Given the description of an element on the screen output the (x, y) to click on. 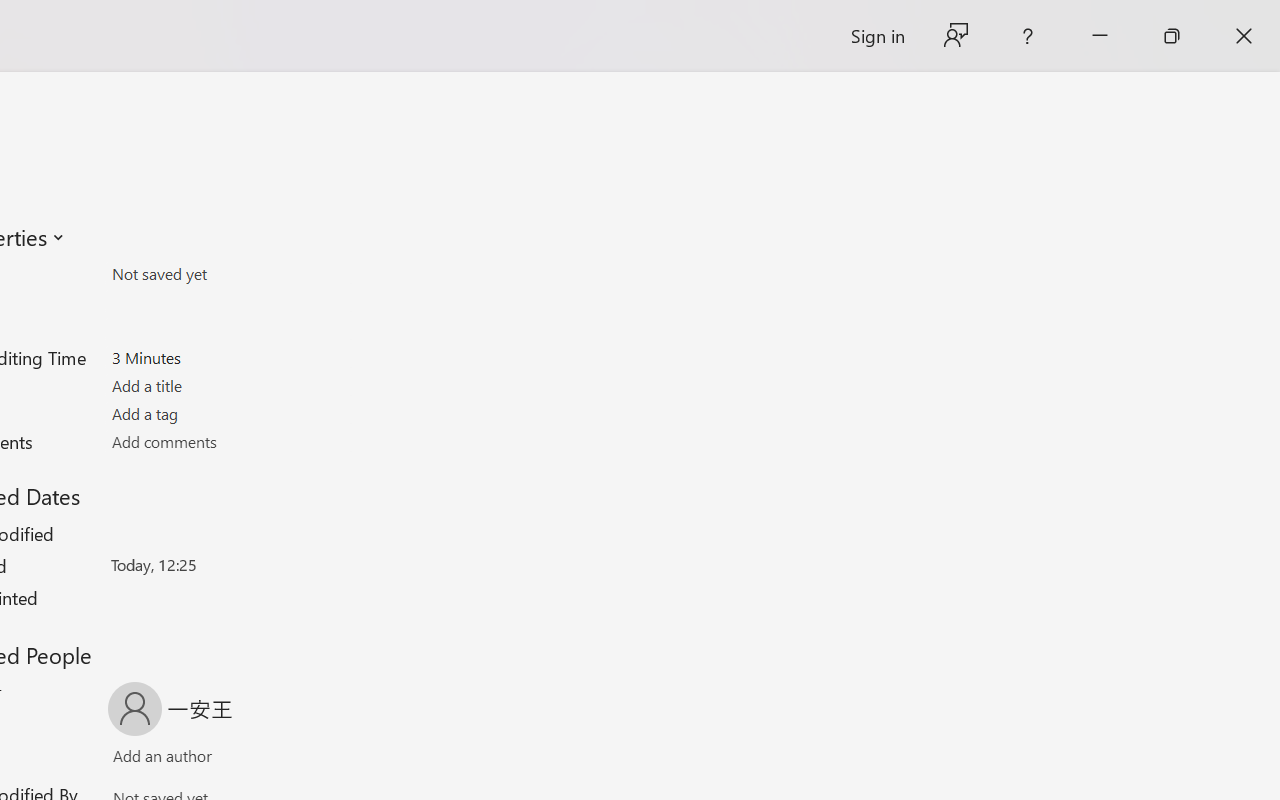
Size (228, 274)
